Given the description of an element on the screen output the (x, y) to click on. 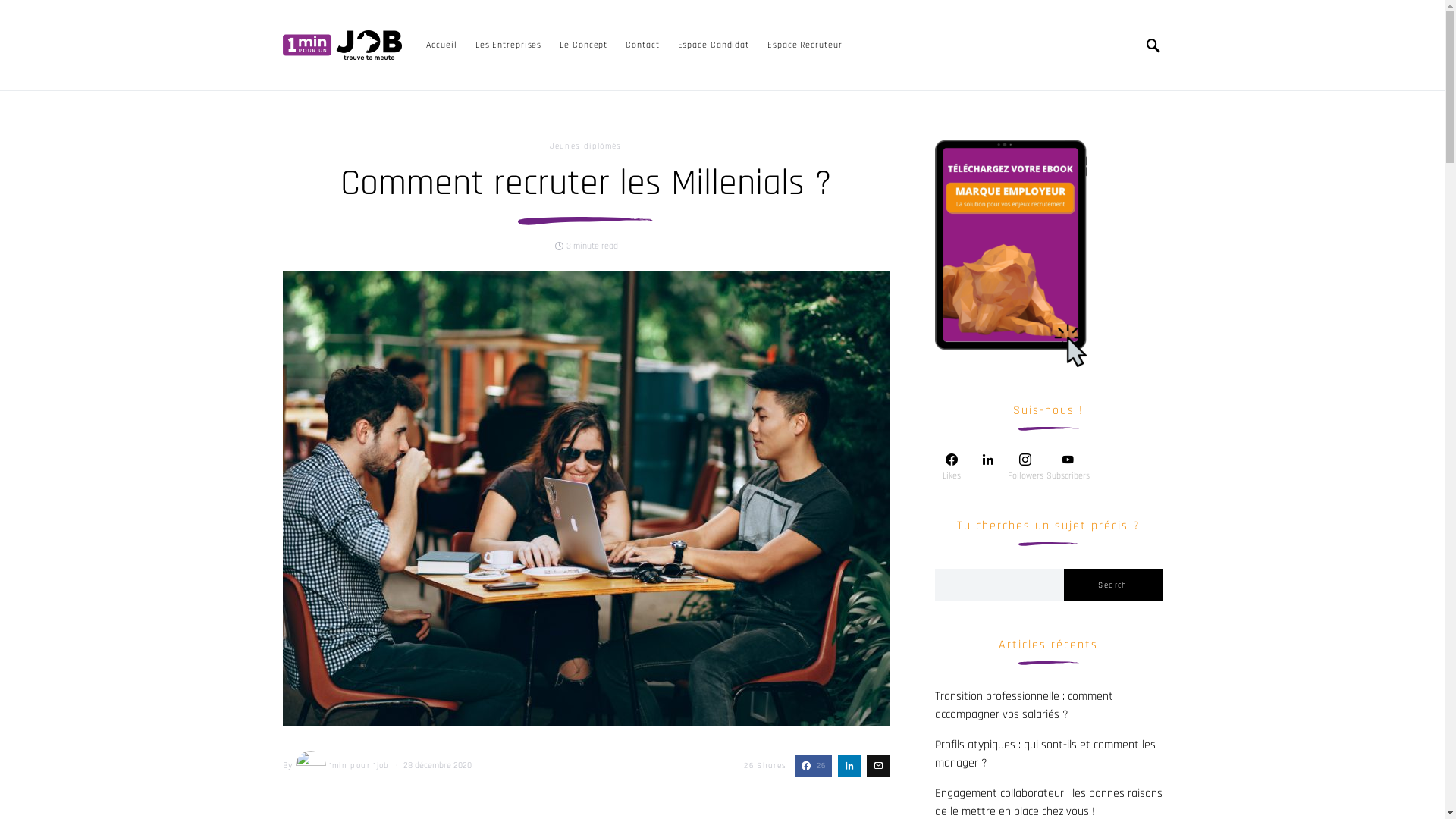
Profils atypiques : qui sont-ils et comment les manager ? Element type: text (1044, 754)
Search Element type: text (1112, 584)
Espace Candidat Element type: text (713, 45)
1min pour 1job Element type: text (340, 765)
Subscribers Element type: text (1067, 466)
Espace Recruteur Element type: text (799, 45)
Followers Element type: text (1024, 466)
26 Element type: text (813, 765)
Likes Element type: text (950, 466)
Les Entreprises Element type: text (508, 45)
Accueil Element type: text (445, 45)
Le Concept Element type: text (583, 45)
Contact Element type: text (642, 45)
